Given the description of an element on the screen output the (x, y) to click on. 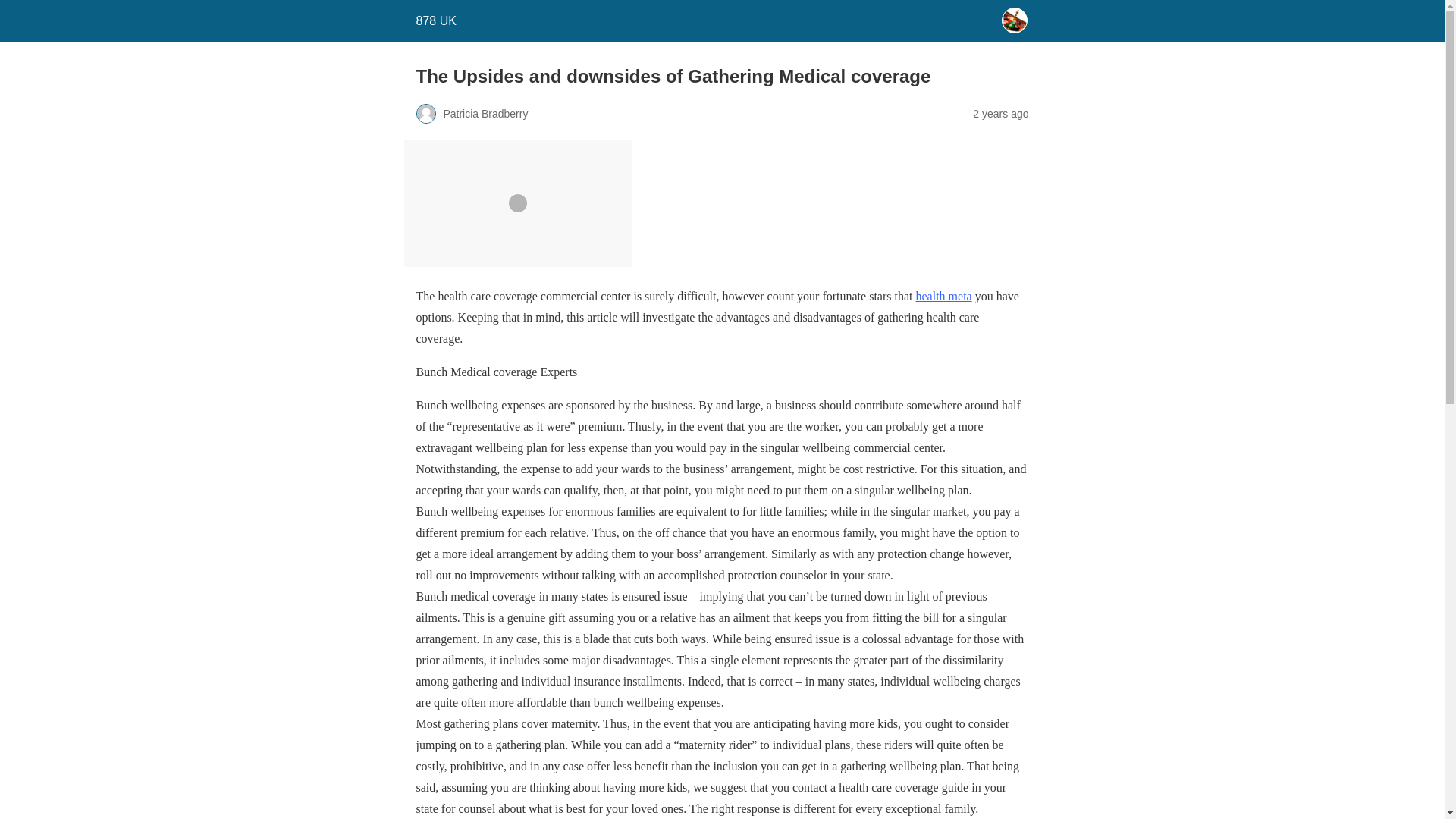
health meta (943, 295)
878 UK (434, 20)
